Given the description of an element on the screen output the (x, y) to click on. 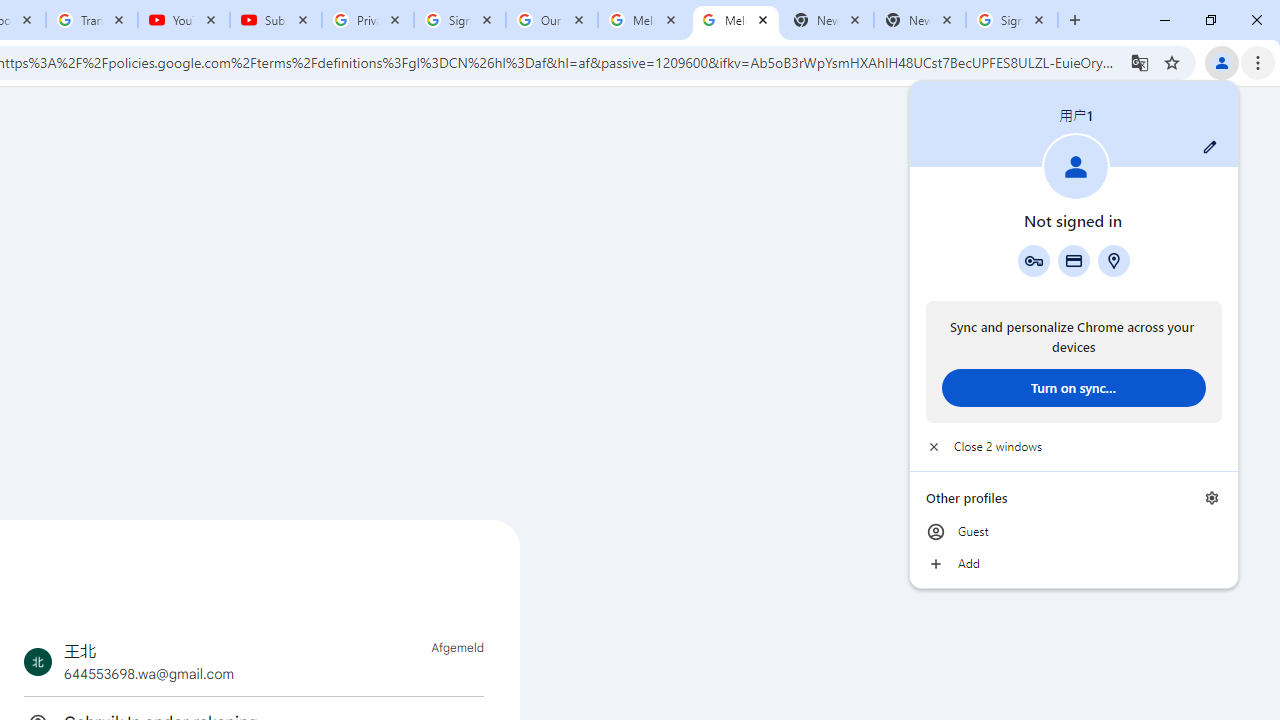
New Tab (920, 20)
Subscriptions - YouTube (276, 20)
Sign in - Google Accounts (1012, 20)
Add (1073, 563)
Customize profile (1210, 147)
Addresses and more (1114, 260)
Manage profiles (1211, 498)
YouTube (184, 20)
